Given the description of an element on the screen output the (x, y) to click on. 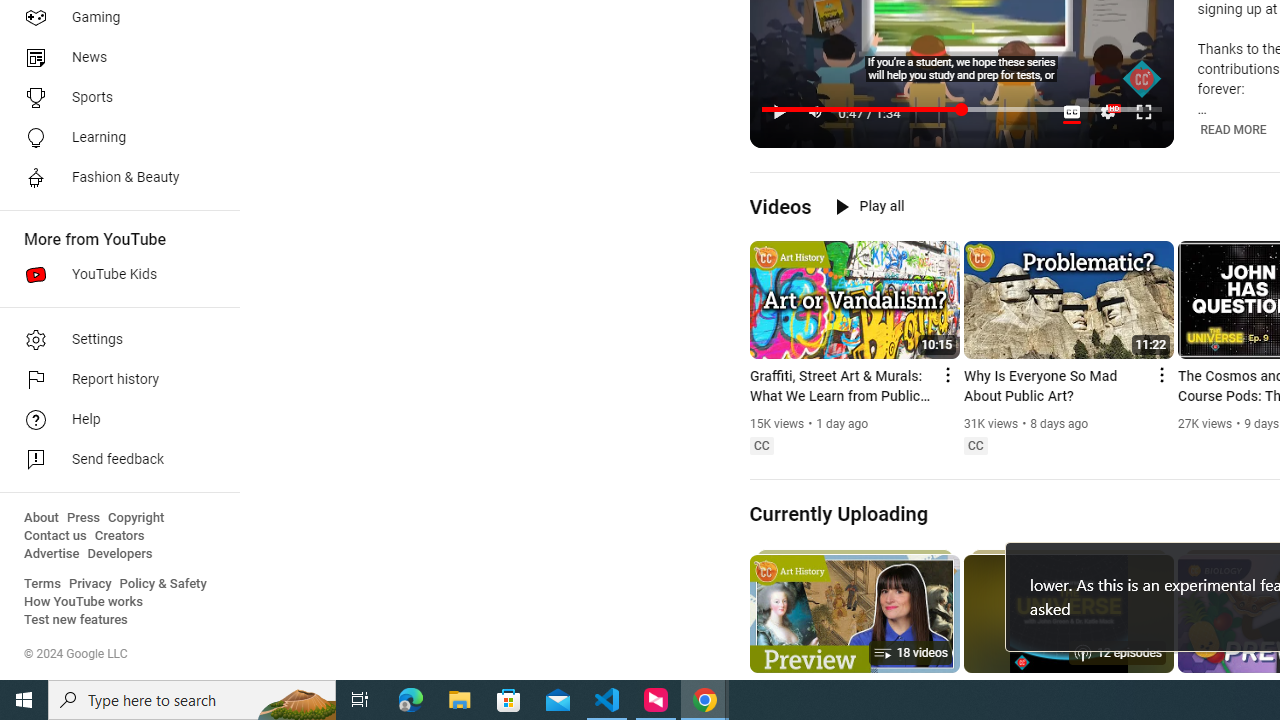
Copyright (136, 518)
Mute (m) (815, 112)
Test new features (76, 620)
Full screen keyboard shortcut f (1143, 112)
Advertise (51, 554)
Action menu (1160, 374)
How YouTube works (83, 602)
READ MORE (1232, 129)
Creators (118, 536)
Send feedback (113, 459)
About (41, 518)
